Given the description of an element on the screen output the (x, y) to click on. 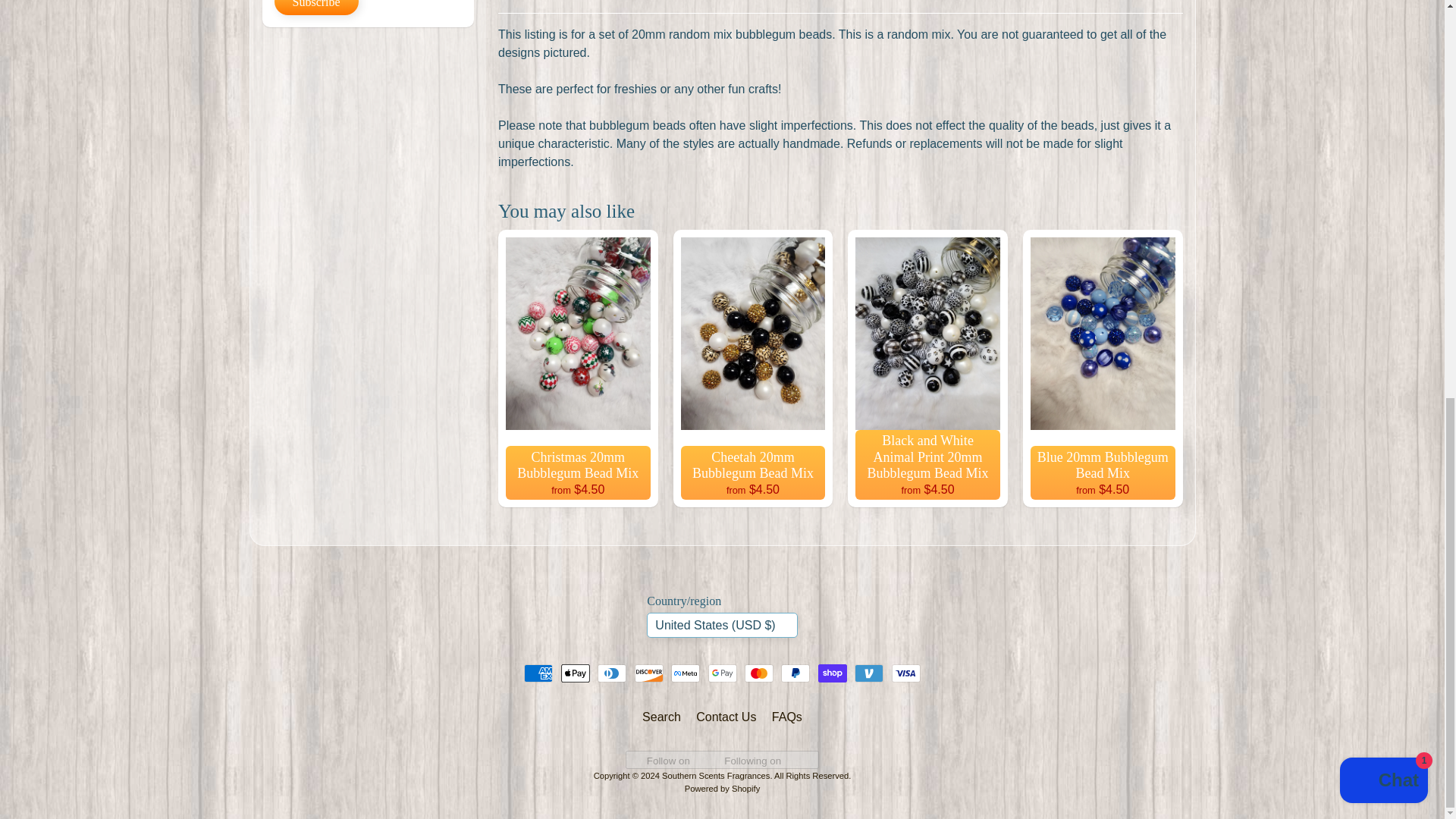
Apple Pay (574, 673)
PayPal (794, 673)
Discover (648, 673)
Visa (905, 673)
Shopify online store chat (1383, 16)
American Express (538, 673)
Meta Pay (685, 673)
Mastercard (758, 673)
Venmo (868, 673)
Shop Pay (832, 673)
Google Pay (721, 673)
Diners Club (611, 673)
